Given the description of an element on the screen output the (x, y) to click on. 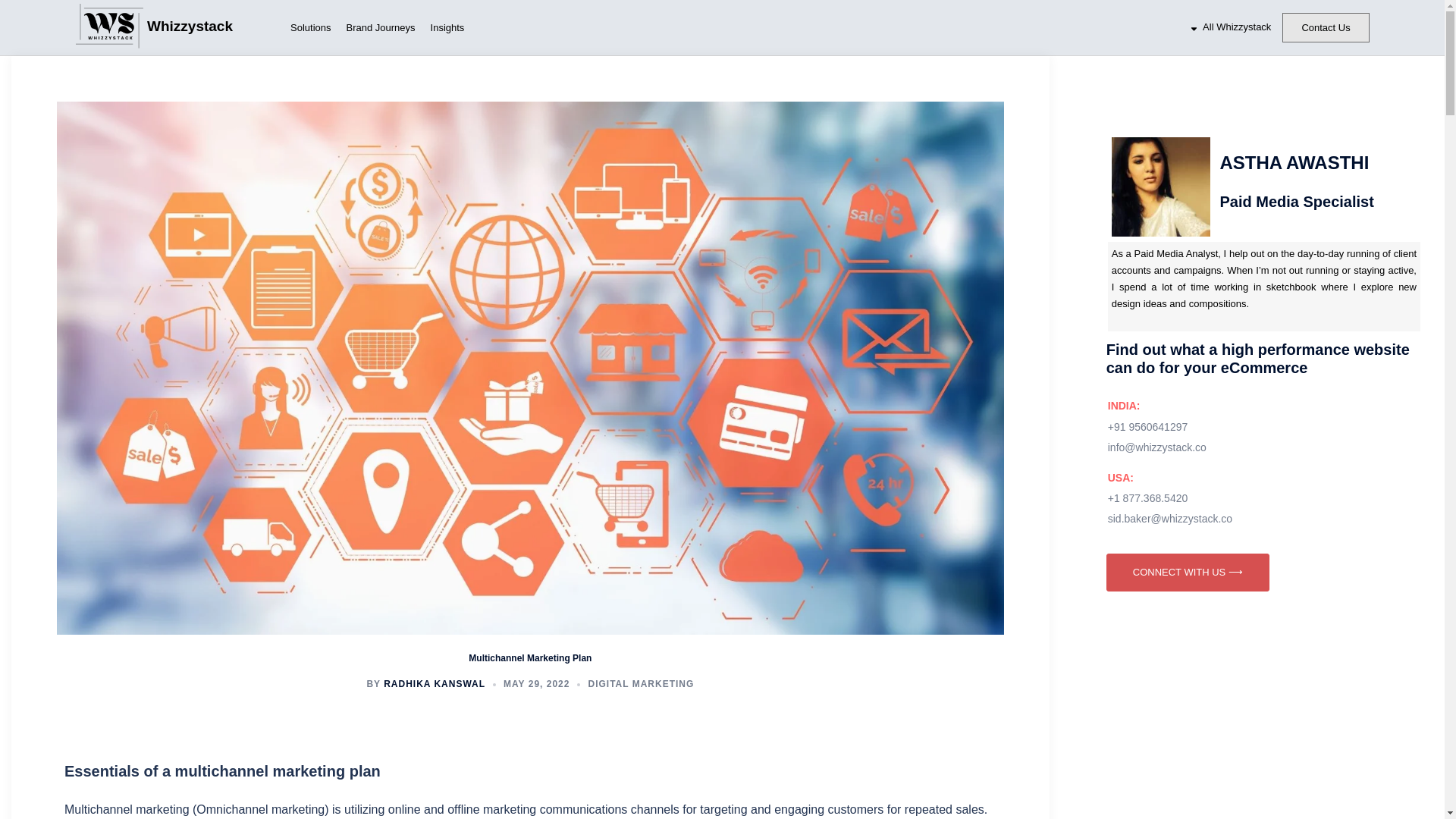
Whizzystack (214, 27)
MAY 29, 2022 (536, 683)
All Whizzystack (1230, 27)
Contact Us (1325, 27)
DIGITAL MARKETING (641, 683)
Solutions (309, 28)
RADHIKA KANSWAL (434, 683)
Insights (447, 28)
Brand Journeys (379, 28)
